Given the description of an element on the screen output the (x, y) to click on. 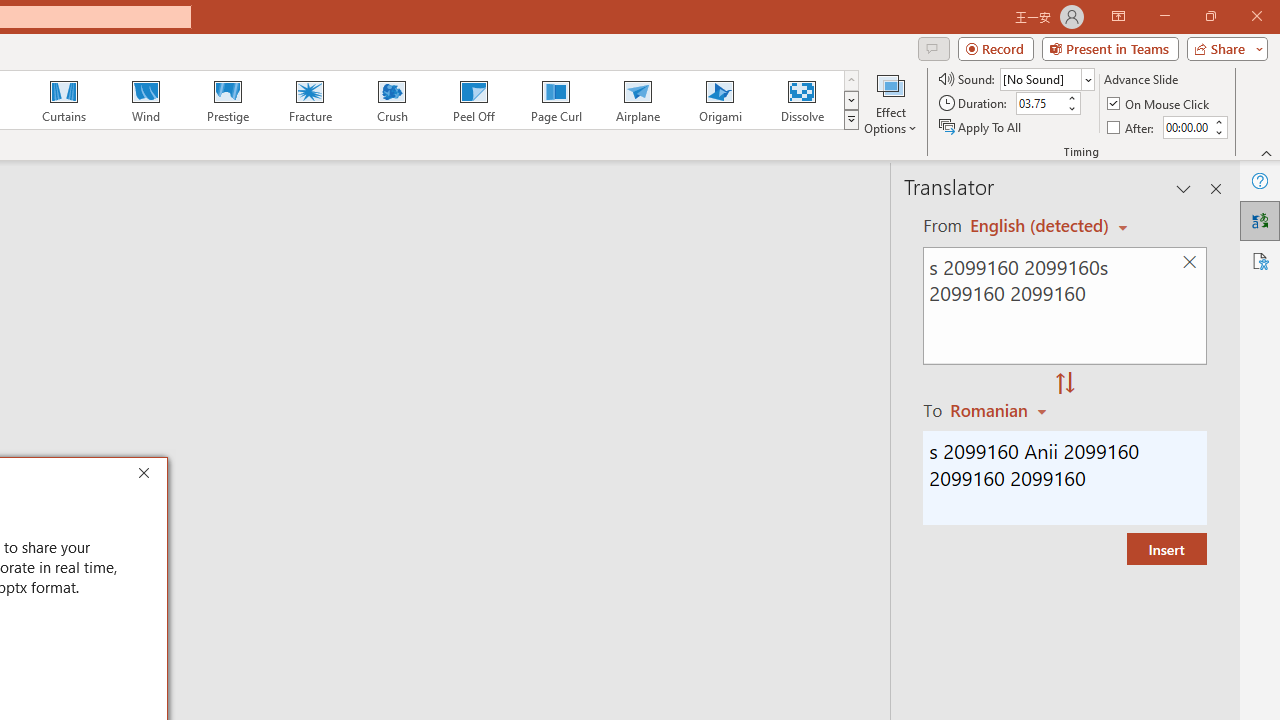
Origami (719, 100)
More (1218, 121)
Czech (detected) (1039, 225)
Romanian (1001, 409)
Effect Options (890, 102)
Peel Off (473, 100)
After (1186, 127)
